Given the description of an element on the screen output the (x, y) to click on. 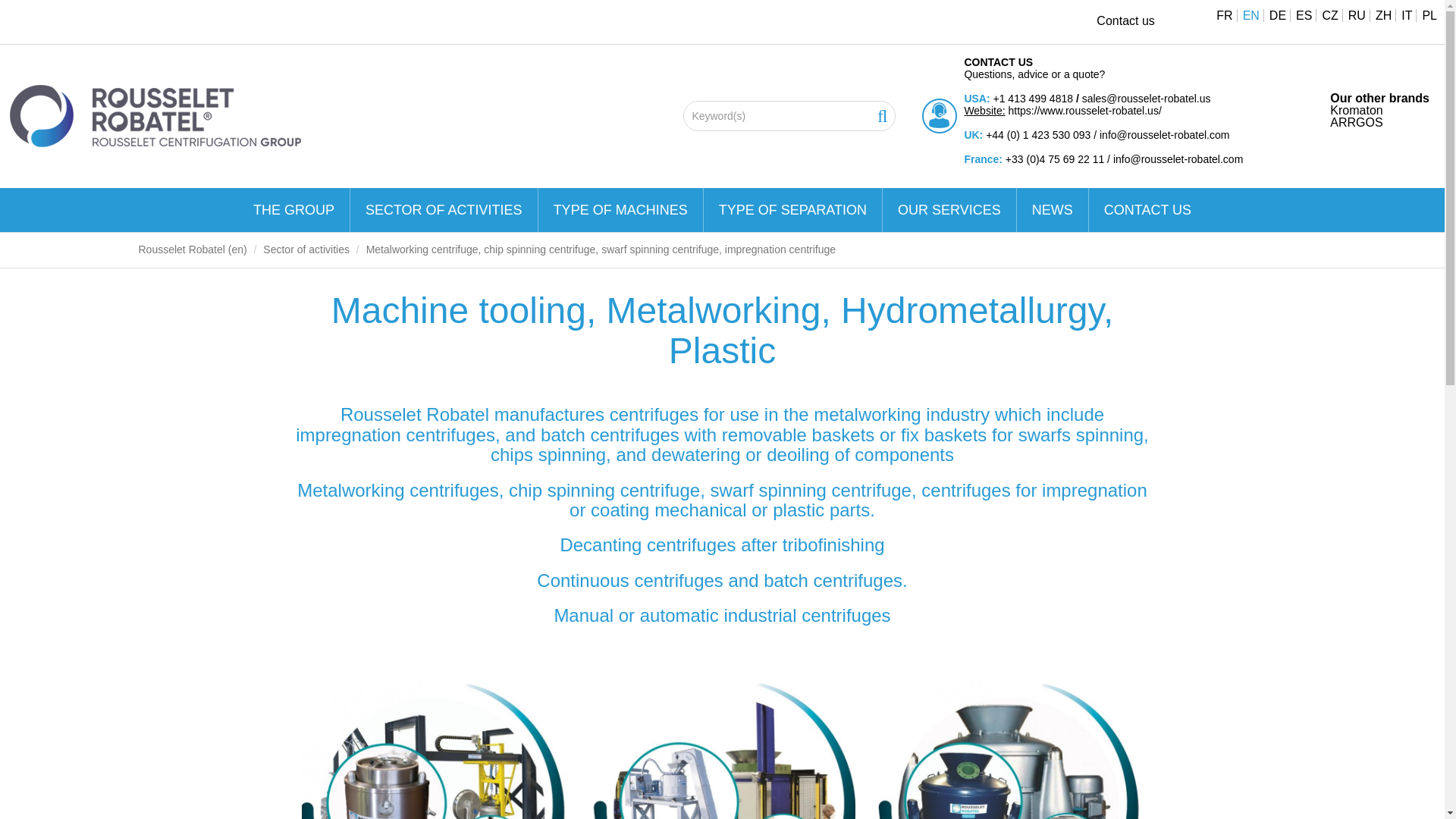
ES (1298, 15)
CZ (1324, 15)
IT (1401, 15)
Kromaton (1355, 110)
Rousselet Robatel (155, 115)
DE (1272, 15)
FR (1221, 15)
ARRGOS (1355, 122)
